Given the description of an element on the screen output the (x, y) to click on. 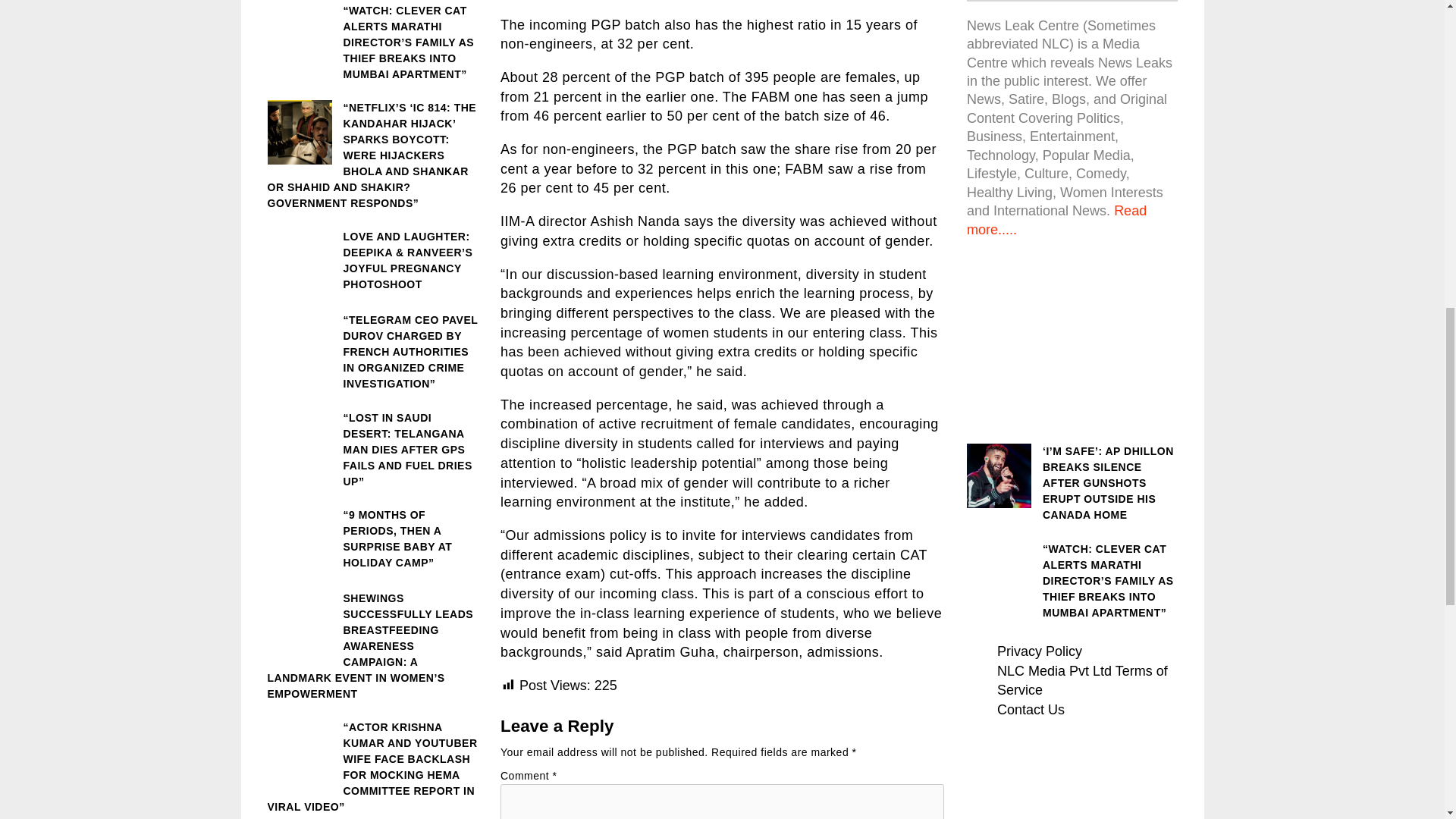
Advertisement (1071, 337)
NLC Media Pvt Ltd Terms of Service (1082, 680)
Read more..... (1056, 219)
Contact Us (1030, 709)
Privacy Policy (1039, 651)
